Given the description of an element on the screen output the (x, y) to click on. 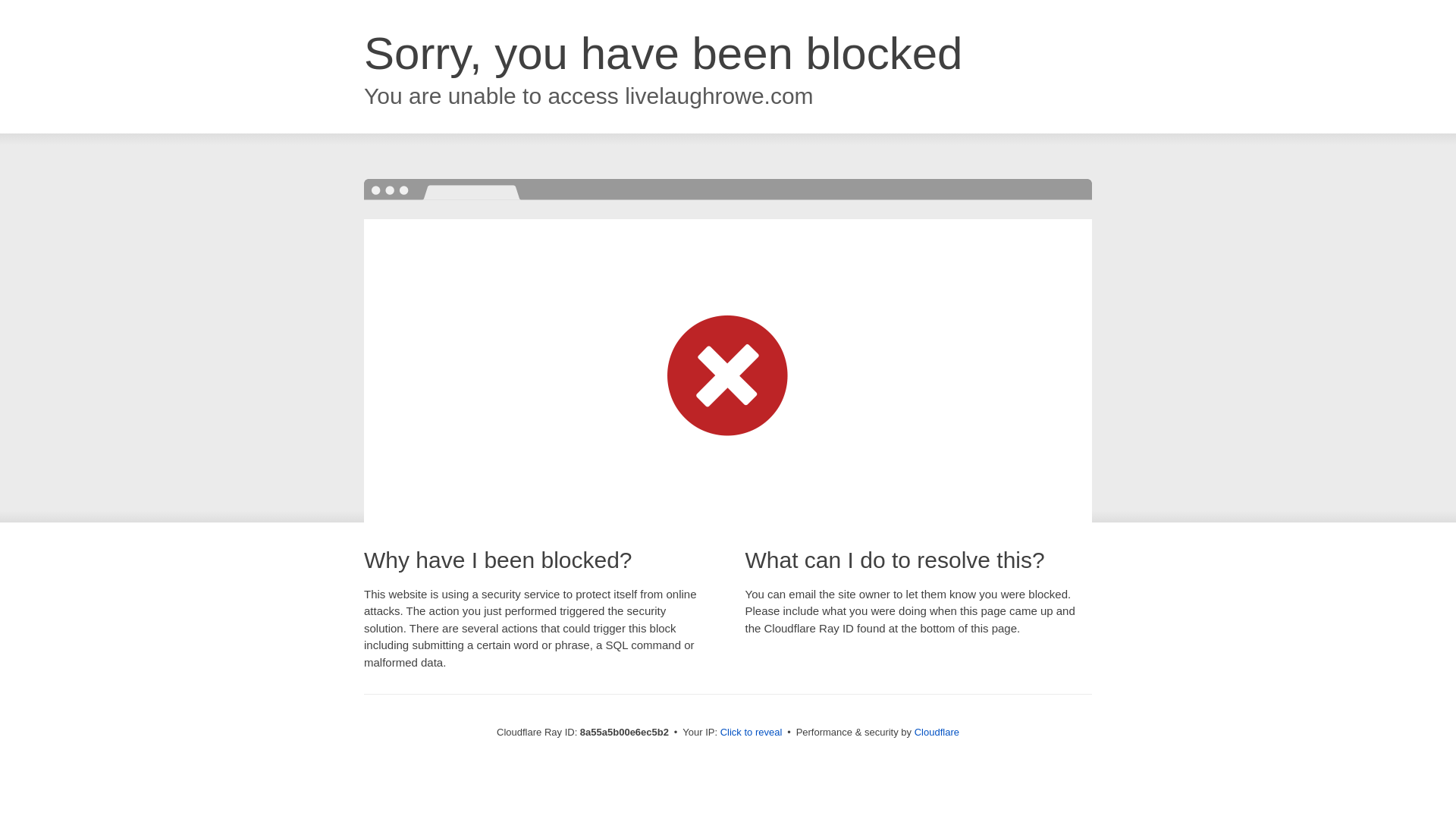
Cloudflare (936, 731)
Click to reveal (751, 732)
